Given the description of an element on the screen output the (x, y) to click on. 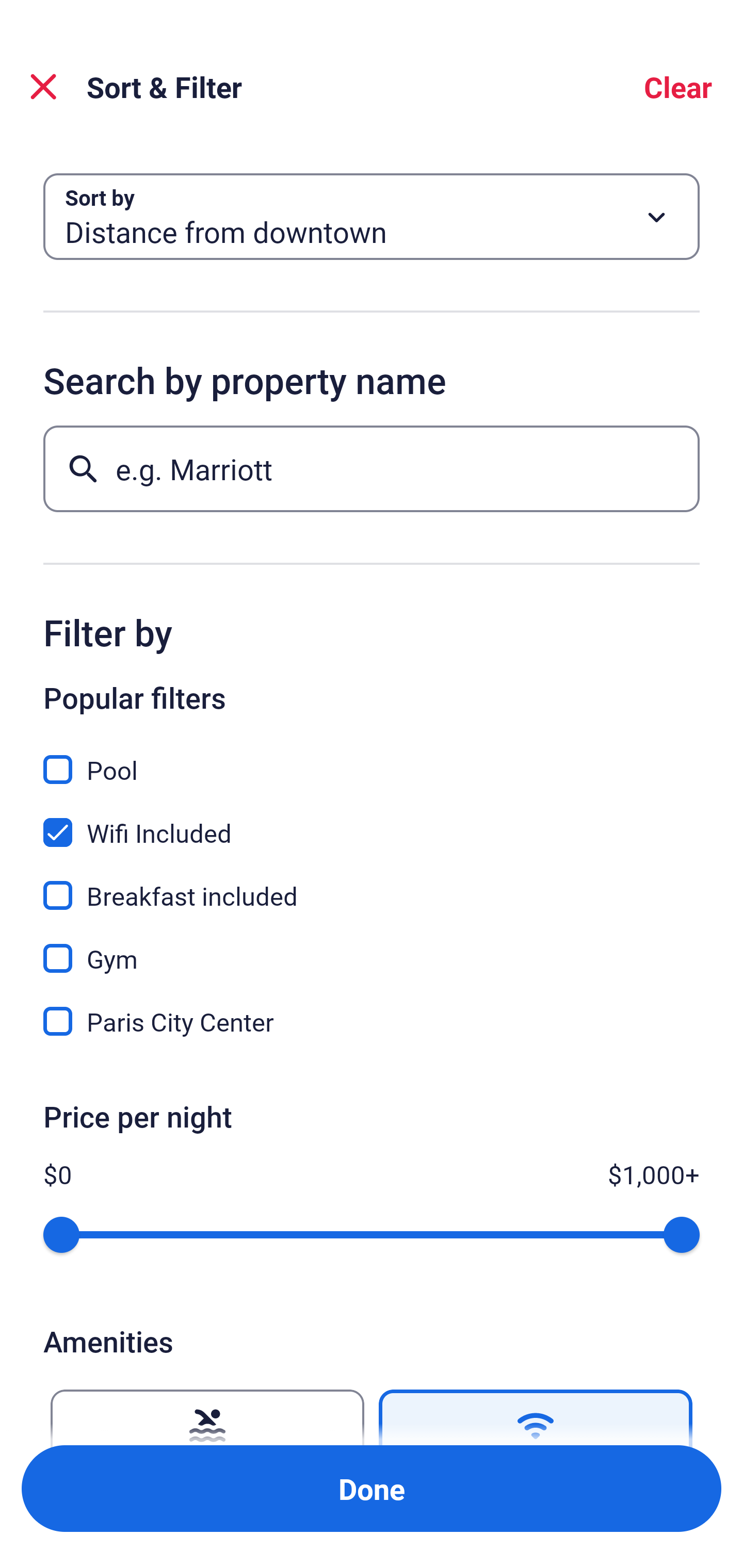
Close Sort and Filter (43, 86)
Clear (677, 86)
Sort by Button Distance from downtown (371, 217)
e.g. Marriott Button (371, 468)
Pool, Pool (371, 757)
Wifi Included, Wifi Included (371, 821)
Breakfast included, Breakfast included (371, 883)
Gym, Gym (371, 946)
Paris City Center, Paris City Center (371, 1021)
Apply and close Sort and Filter Done (371, 1488)
